Given the description of an element on the screen output the (x, y) to click on. 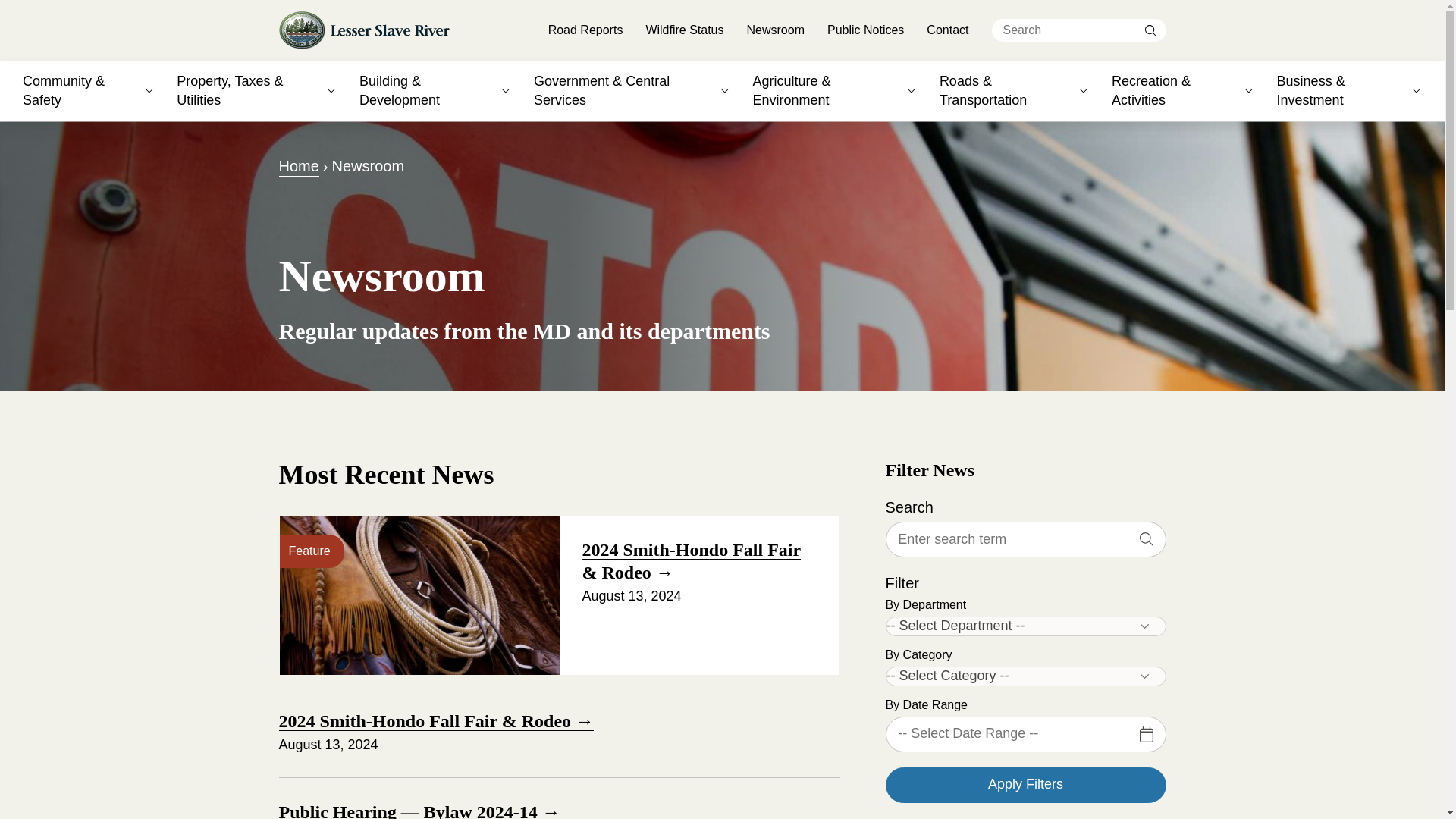
Read More (355, 35)
Information and resources on grinder pump maintenance (874, 17)
Read More (419, 38)
Newsroom (775, 29)
Wildfire Status (684, 29)
View Maps (355, 35)
View Maps (419, 38)
Register (419, 38)
RCMP Crime map (637, 2)
Check the local wildfire status before making plans (874, 58)
